Given the description of an element on the screen output the (x, y) to click on. 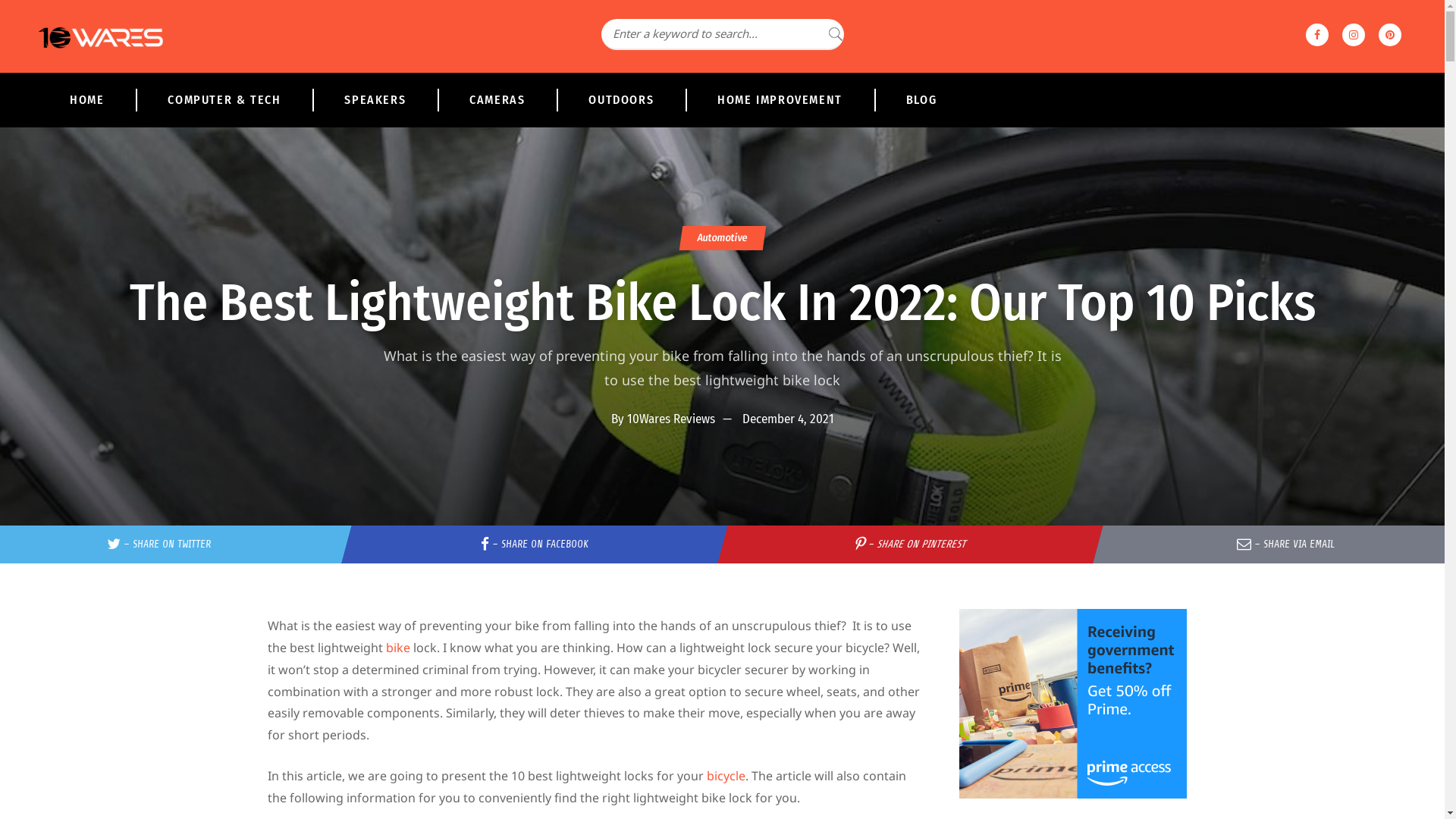
10Wares Reviews Element type: text (670, 418)
Instagram Element type: hover (1353, 34)
HOME IMPROVEMENT Element type: text (779, 99)
HOME Element type: text (86, 99)
Automotive Element type: text (720, 237)
SPEAKERS Element type: text (374, 99)
BLOG Element type: text (921, 99)
OUTDOORS Element type: text (620, 99)
Facebook Element type: hover (1316, 34)
COMPUTER & TECH Element type: text (223, 99)
Submit Element type: text (34, 23)
Pinterest Element type: hover (1389, 34)
bike Element type: text (398, 647)
CAMERAS Element type: text (496, 99)
bicycle Element type: text (725, 775)
